Given the description of an element on the screen output the (x, y) to click on. 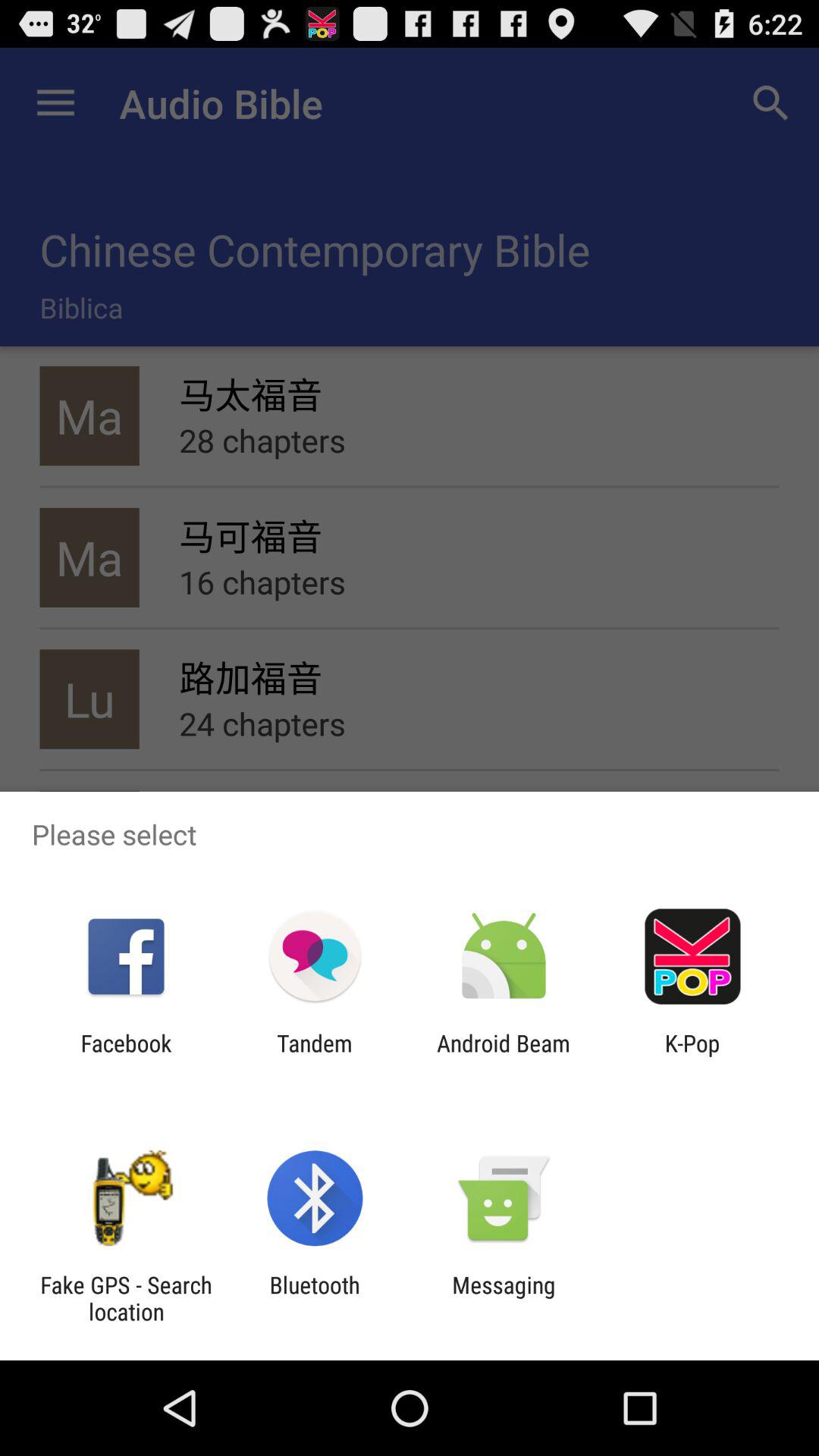
turn off item to the right of the bluetooth (503, 1298)
